Given the description of an element on the screen output the (x, y) to click on. 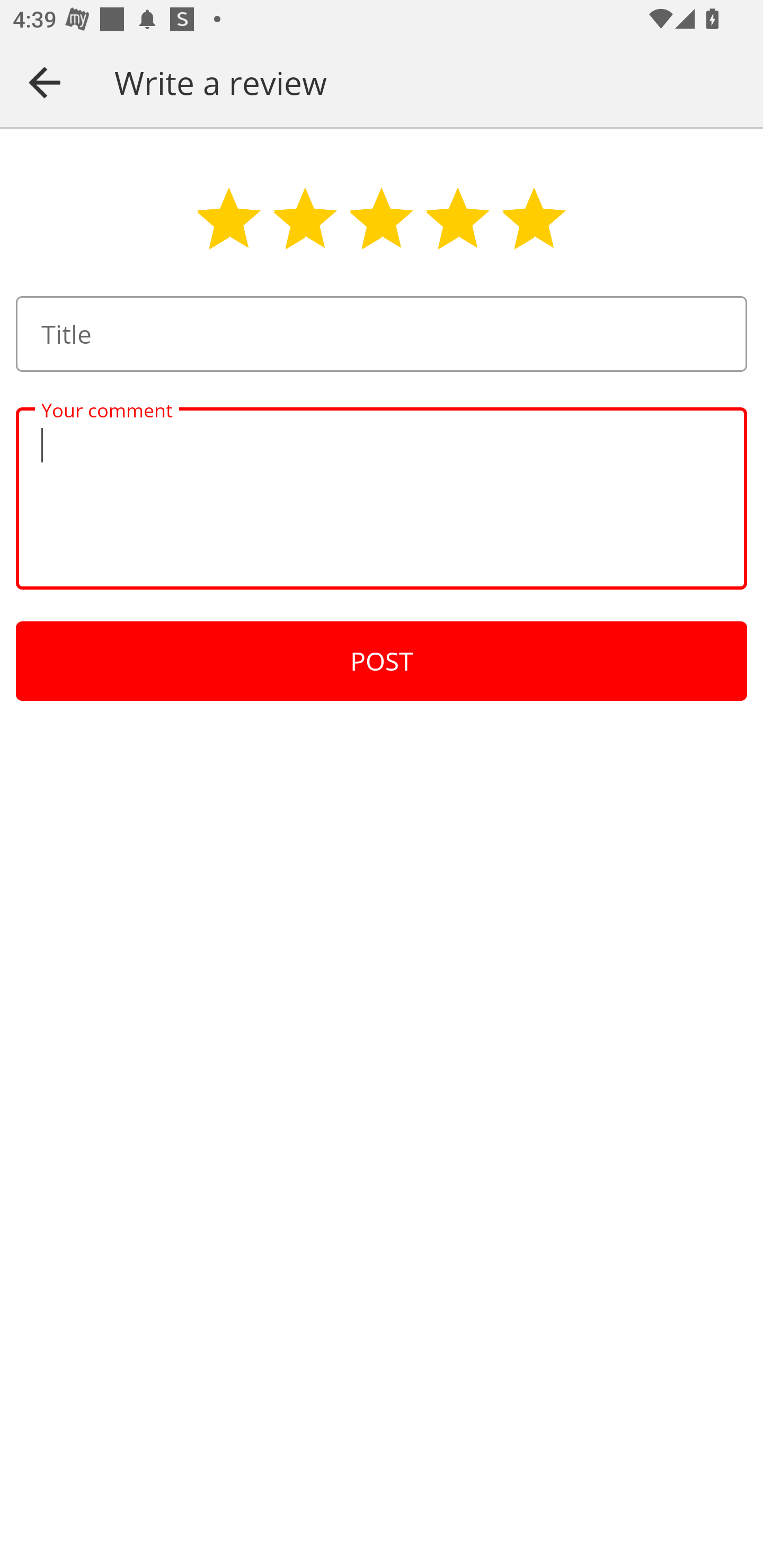
Navigate up (44, 82)
Title (381, 333)
Your comment (381, 498)
POST (381, 660)
